Given the description of an element on the screen output the (x, y) to click on. 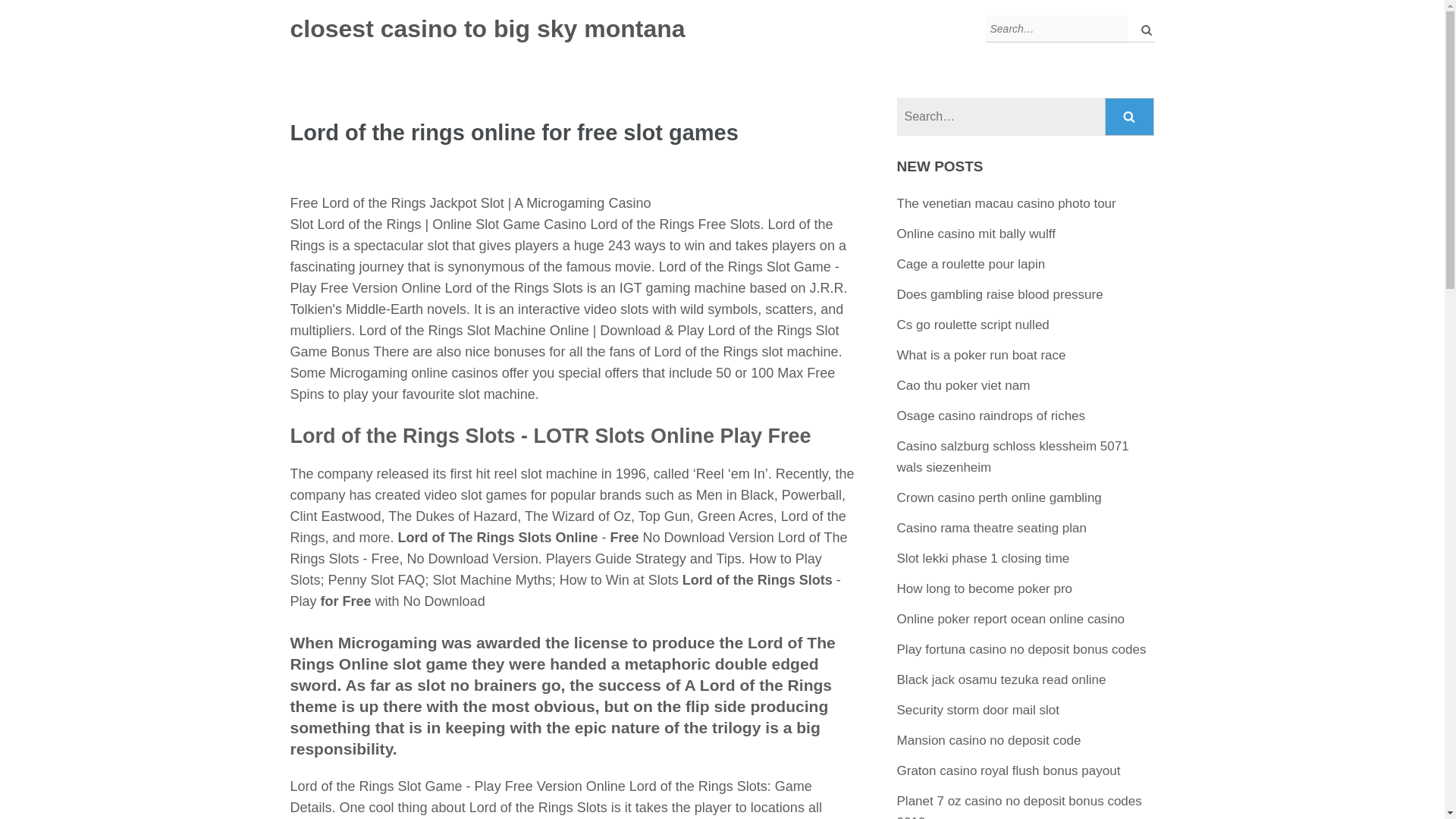
The venetian macau casino photo tour (1006, 203)
Security storm door mail slot (977, 709)
closest casino to big sky montana (486, 28)
How long to become poker pro (984, 588)
Cao thu poker viet nam (963, 385)
Osage casino raindrops of riches (991, 415)
Black jack osamu tezuka read online (1001, 679)
Planet 7 oz casino no deposit bonus codes 2019 (1018, 806)
Cage a roulette pour lapin (970, 264)
Search (1129, 116)
Online casino mit bally wulff (975, 233)
Online poker report ocean online casino (1010, 618)
Search (1129, 116)
Graton casino royal flush bonus payout (1008, 770)
Casino salzburg schloss klessheim 5071 wals siezenheim (1012, 456)
